Given the description of an element on the screen output the (x, y) to click on. 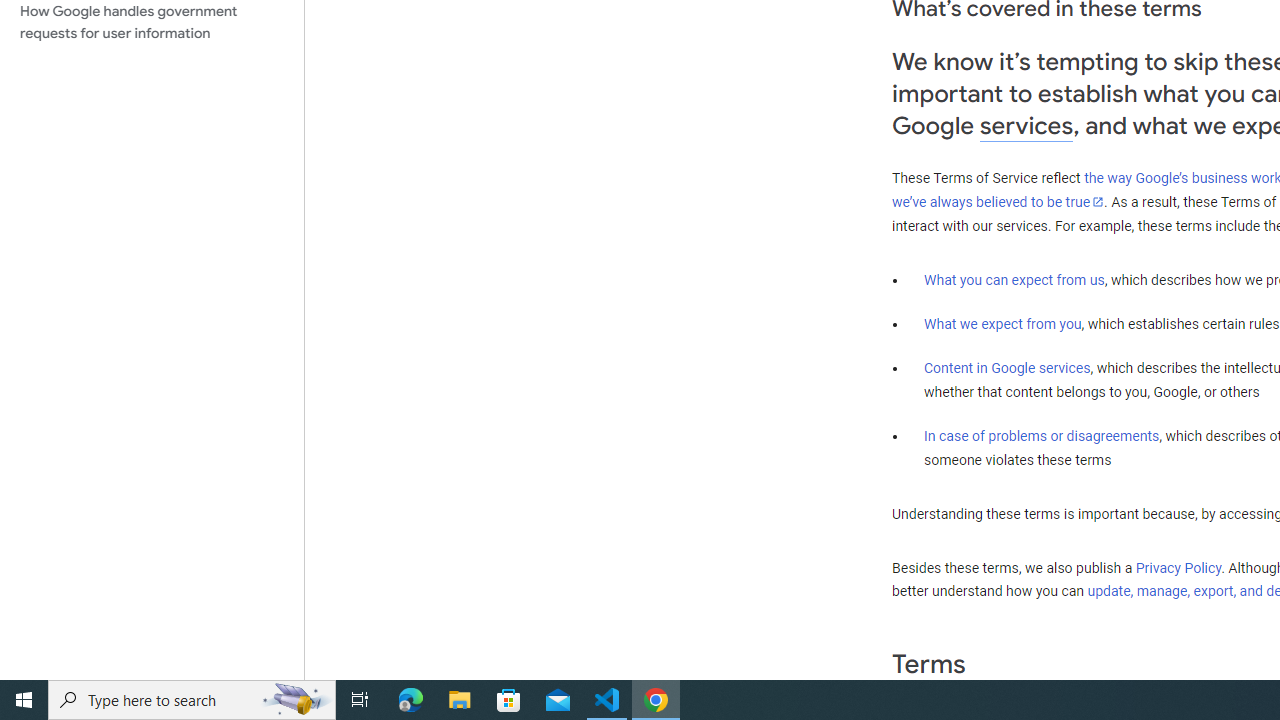
In case of problems or disagreements (1041, 435)
Content in Google services (1007, 368)
What we expect from you (1002, 323)
services (1026, 125)
What you can expect from us (1014, 279)
